Given the description of an element on the screen output the (x, y) to click on. 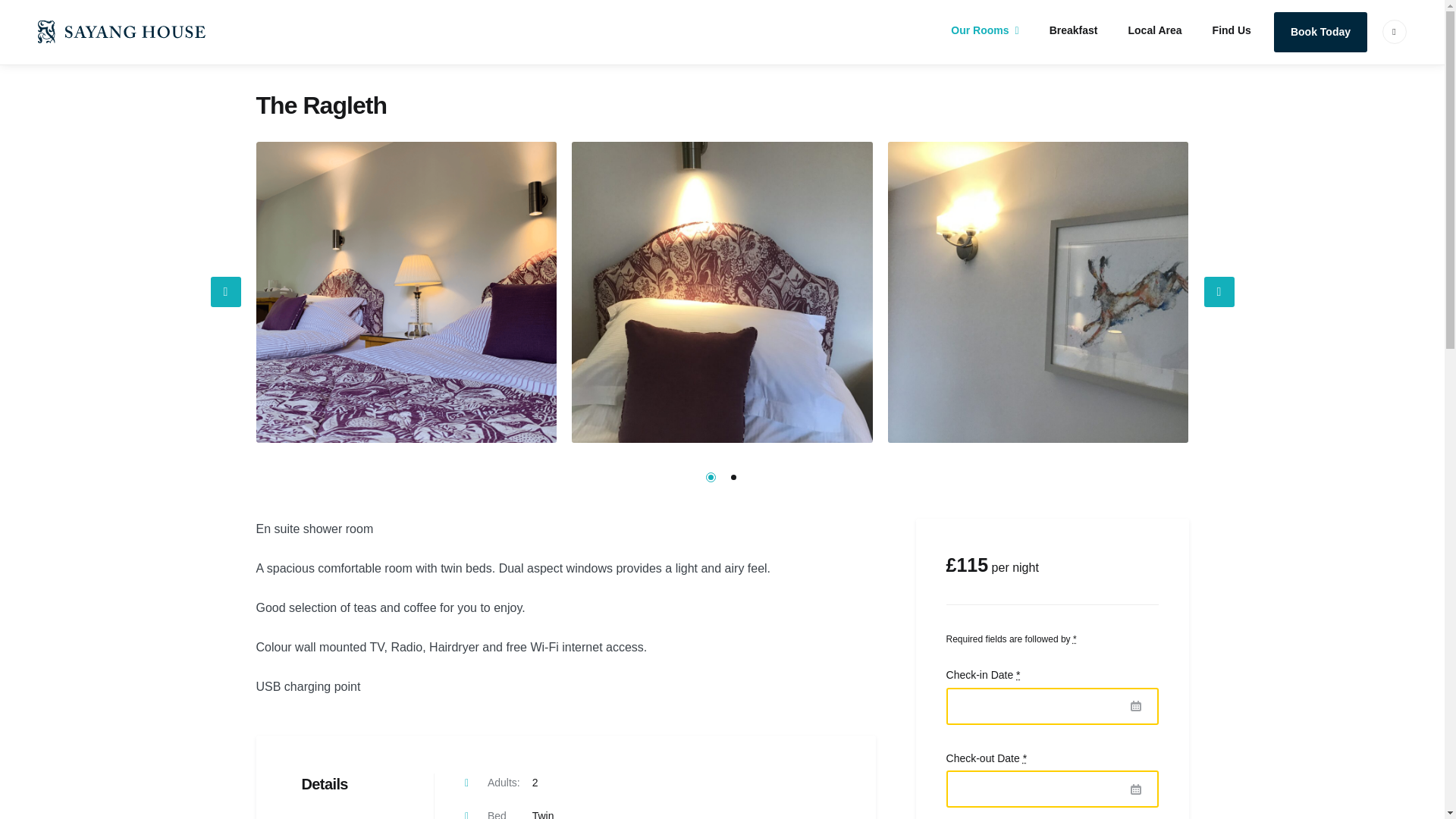
Local Area (1154, 30)
Breakfast (1073, 30)
Next (1219, 291)
Sayang House (84, 31)
Previous (226, 291)
Book Today (1320, 32)
Our Rooms (984, 30)
Find Us (1231, 30)
